Given the description of an element on the screen output the (x, y) to click on. 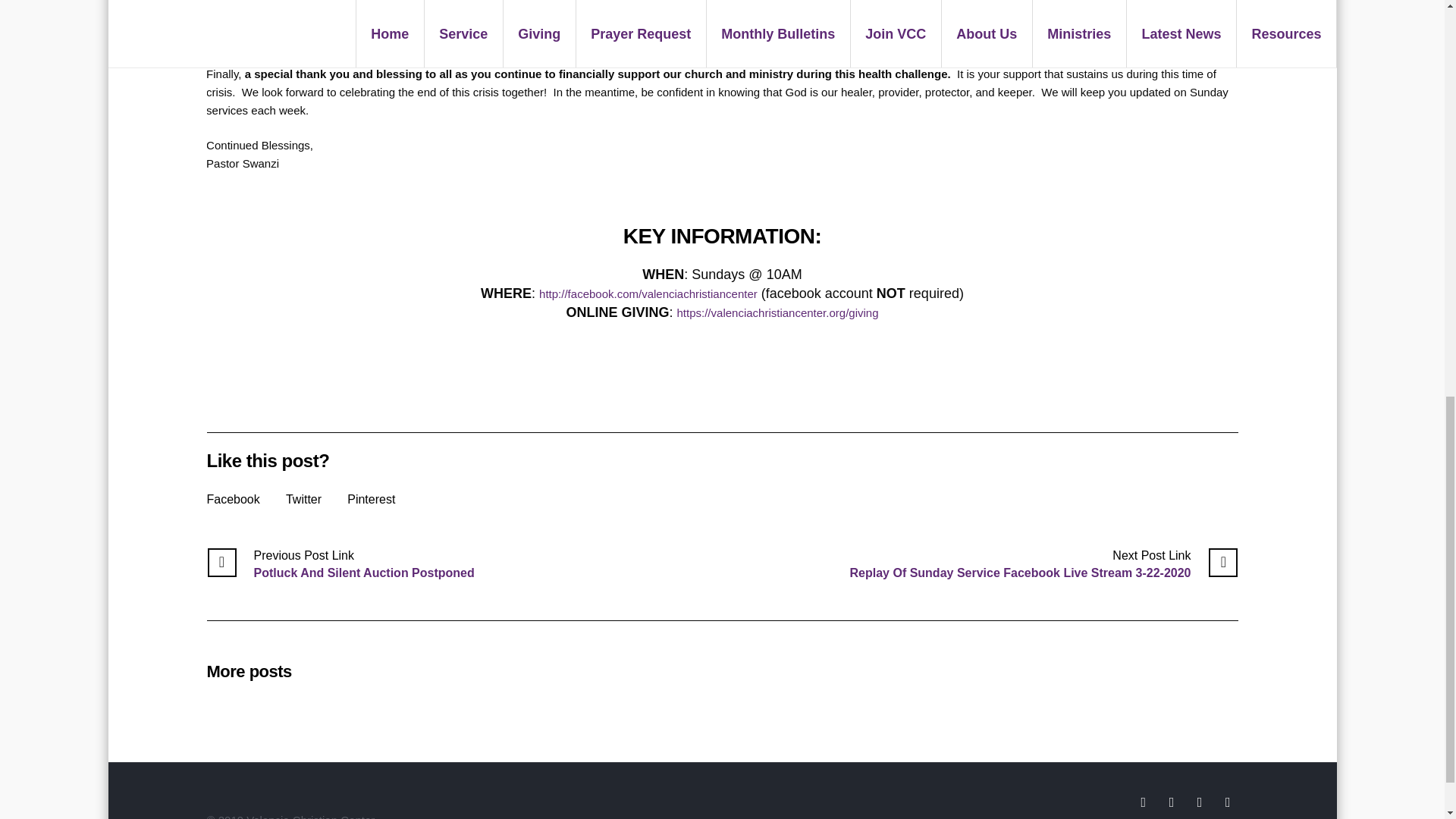
Replay Of Sunday Service Facebook Live Stream 3-22-2020 (1044, 564)
Pinterest (370, 499)
Facebook (232, 499)
Potluck And Silent Auction Postponed (340, 564)
Twitter (303, 499)
